Given the description of an element on the screen output the (x, y) to click on. 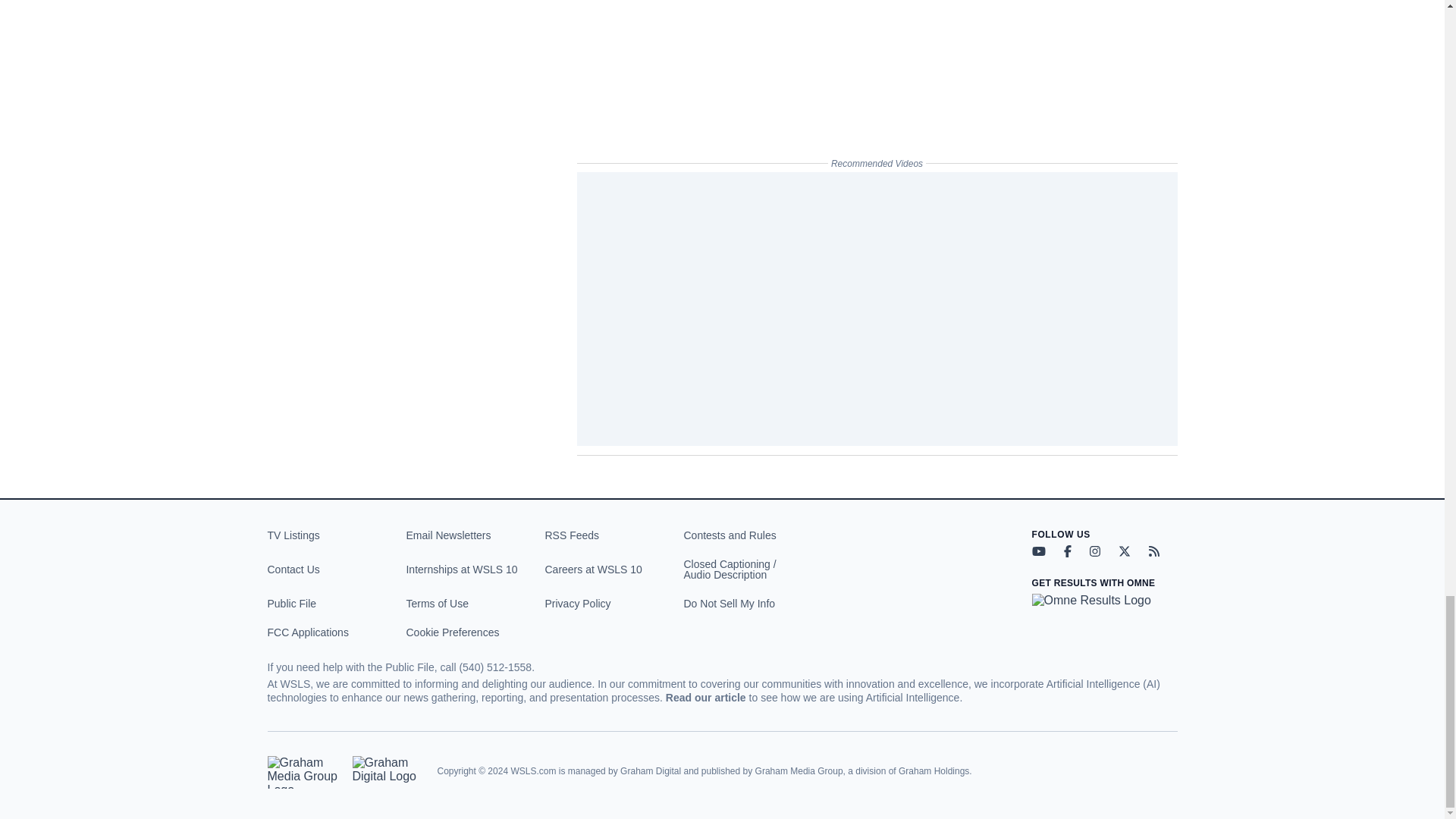
youtube (1037, 551)
twitter (1123, 551)
